Given the description of an element on the screen output the (x, y) to click on. 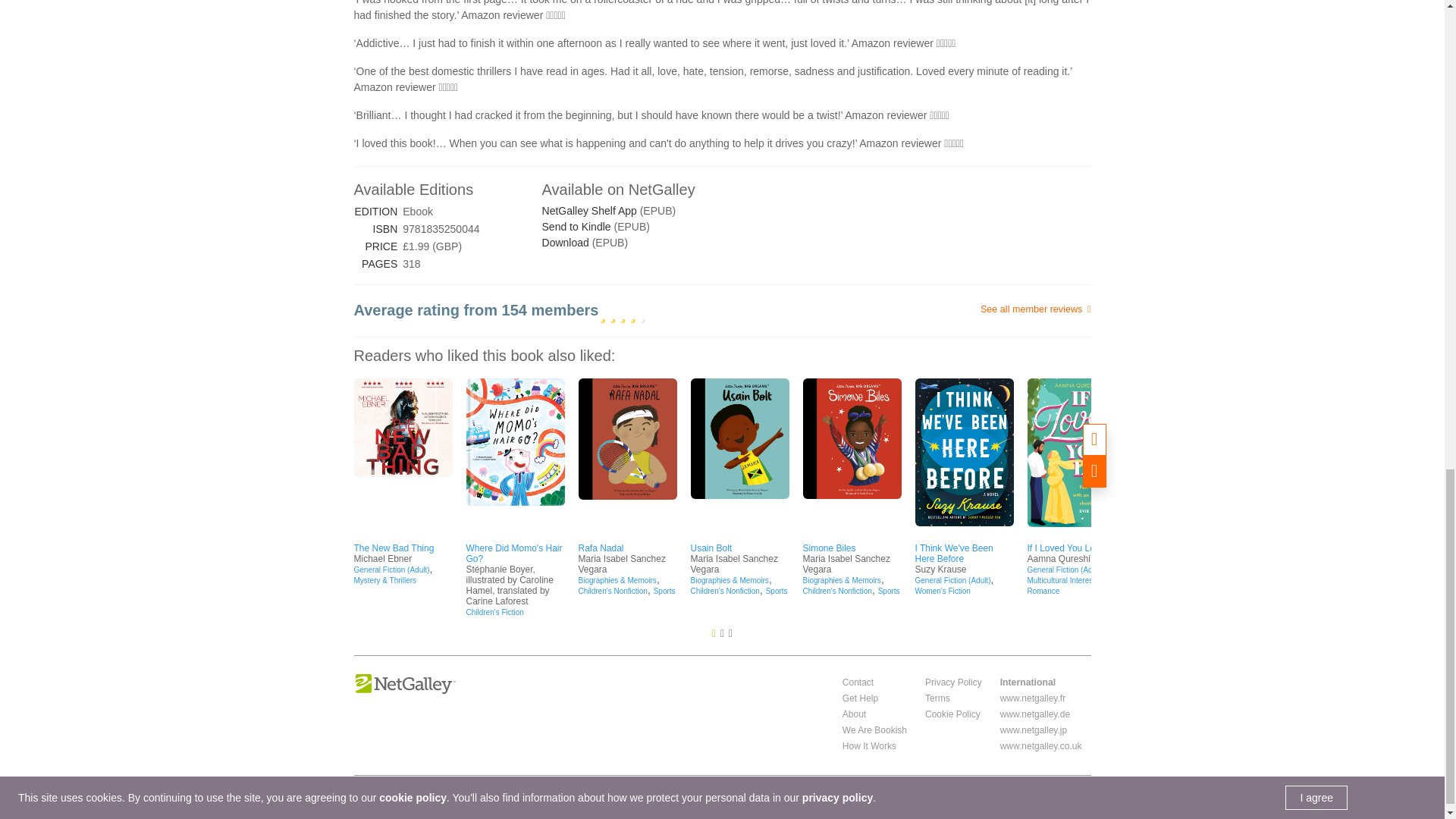
See all member reviews (967, 309)
